Given the description of an element on the screen output the (x, y) to click on. 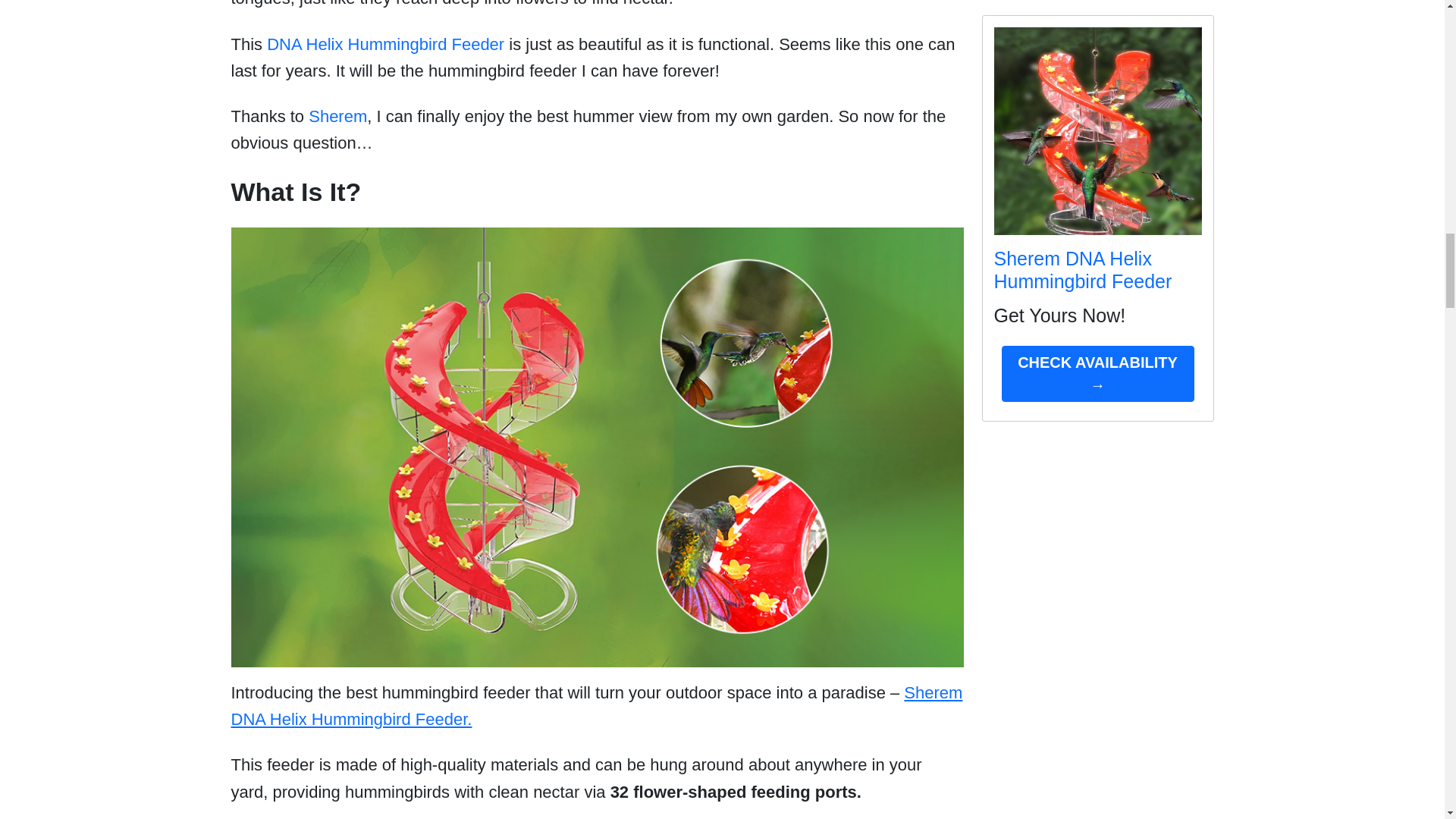
Sherem DNA Helix Hummingbird Feeder. (596, 705)
Sherem (337, 116)
DNA Helix Hummingbird Feeder (384, 44)
